Given the description of an element on the screen output the (x, y) to click on. 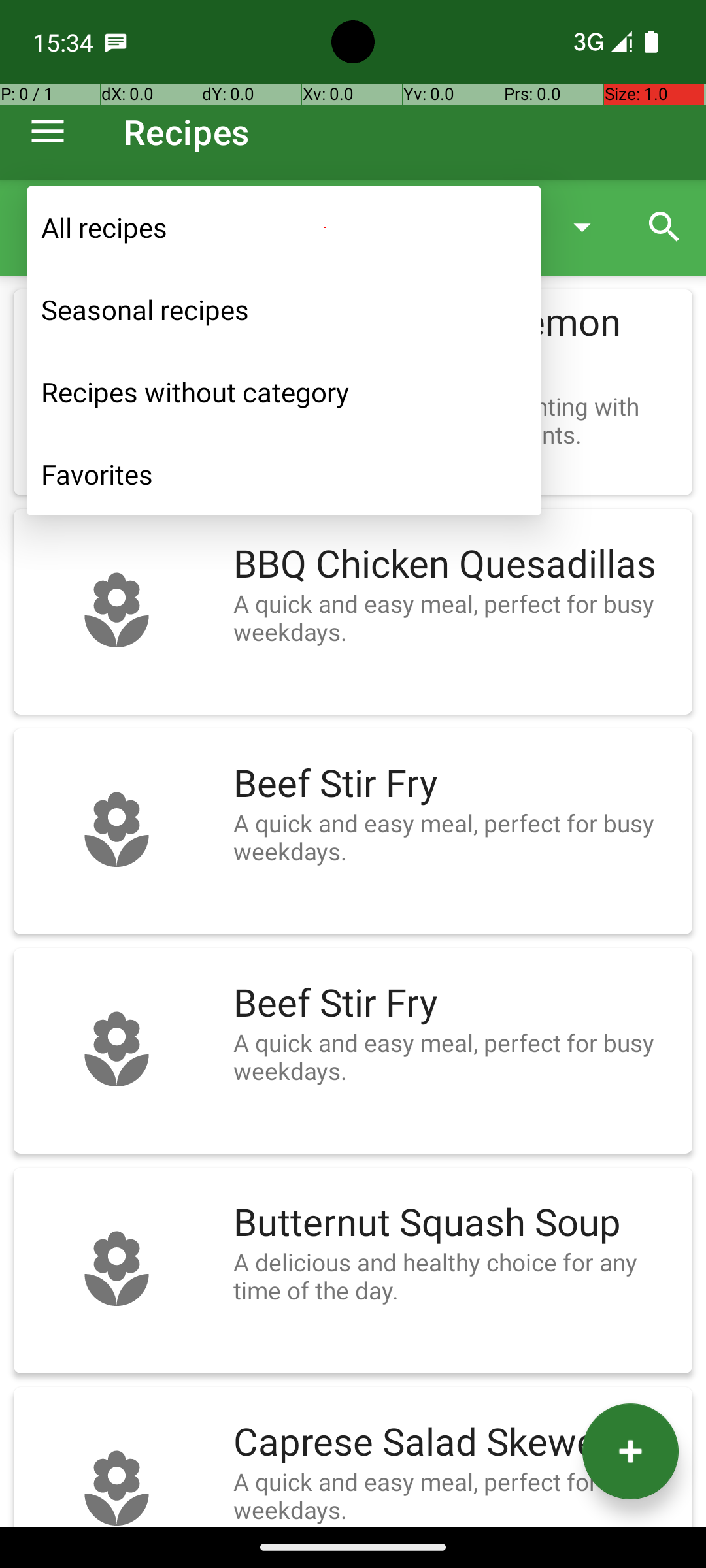
Seasonal recipes Element type: android.widget.CheckedTextView (283, 309)
Recipes without category Element type: android.widget.CheckedTextView (283, 391)
Favorites Element type: android.widget.CheckedTextView (283, 474)
